Given the description of an element on the screen output the (x, y) to click on. 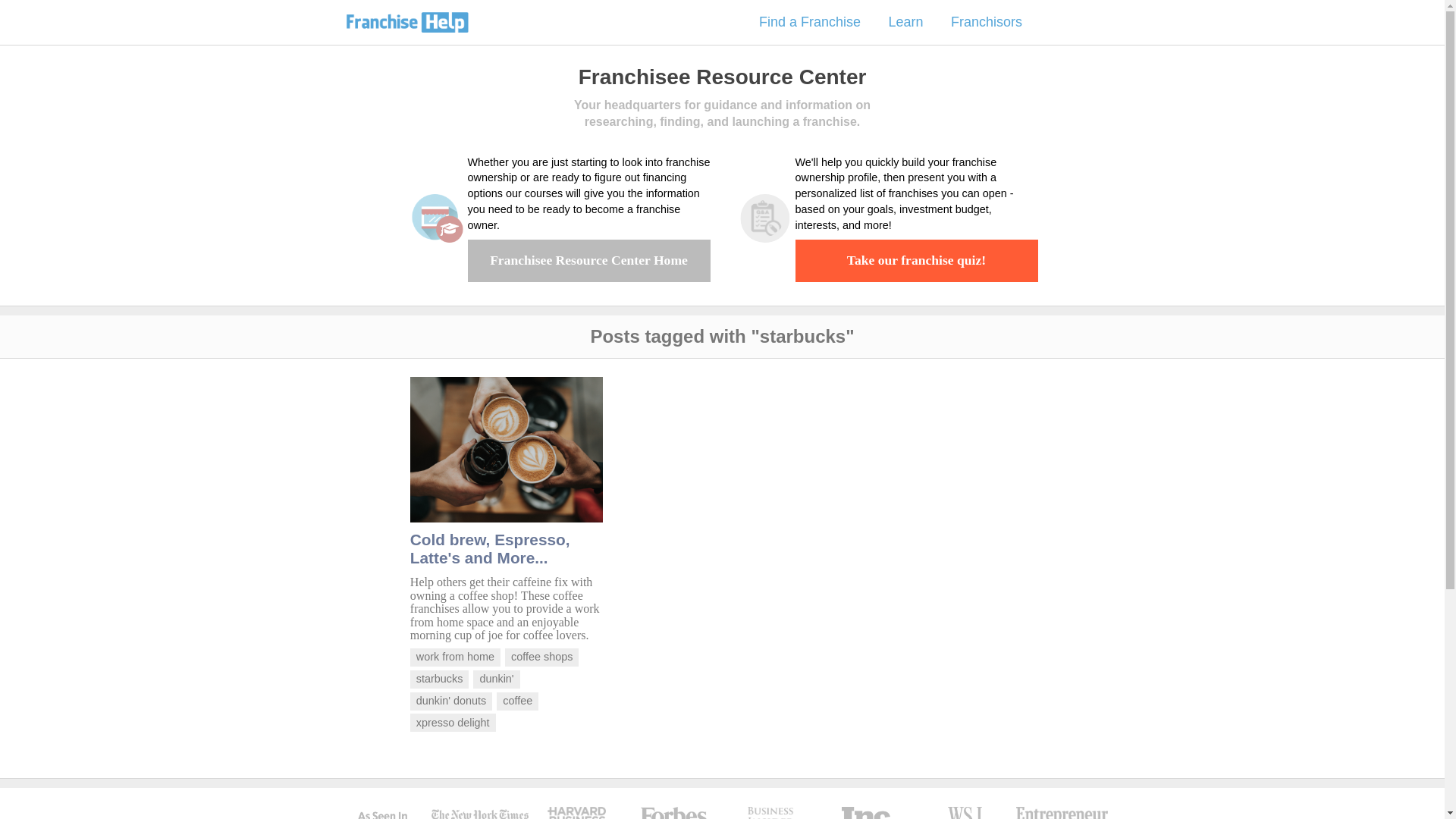
Learn (905, 22)
Franchisors (986, 22)
Find a Franchise (809, 22)
